Given the description of an element on the screen output the (x, y) to click on. 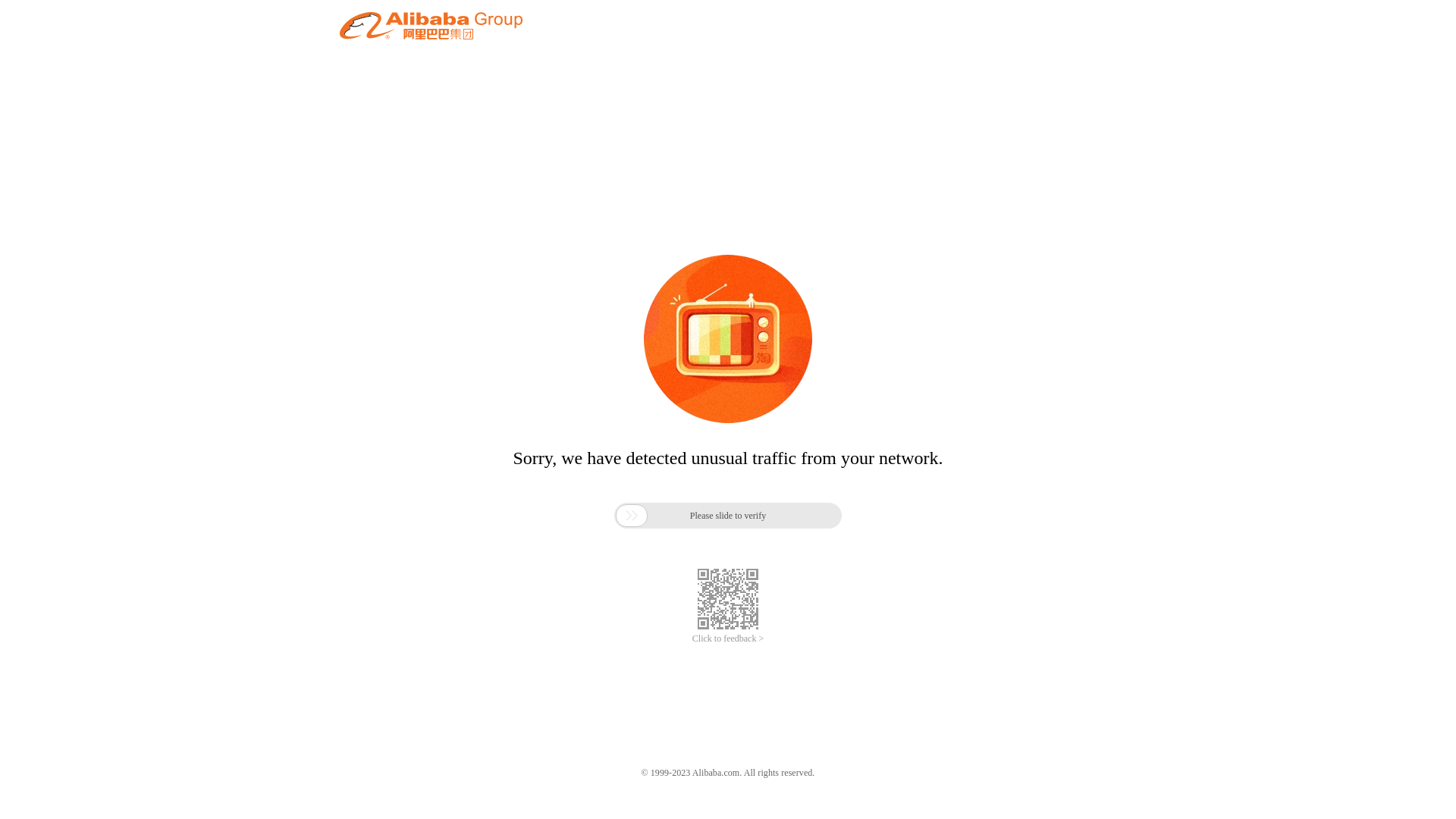
Click to feedback > Element type: text (727, 638)
